Given the description of an element on the screen output the (x, y) to click on. 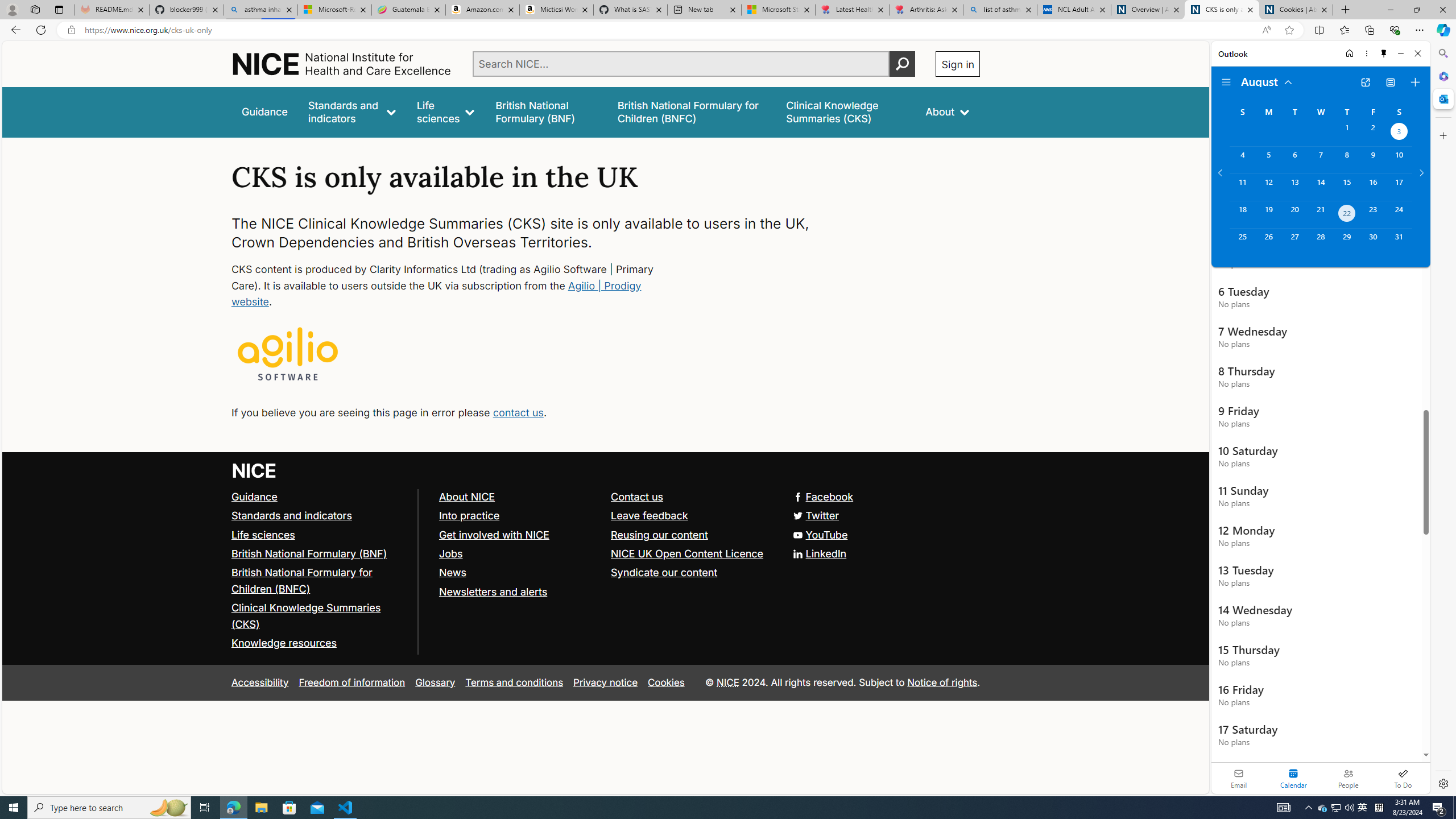
Friday, August 23, 2024.  (1372, 214)
Contact us (692, 496)
Thursday, August 8, 2024.  (1346, 159)
Accessibility (259, 682)
YouTube (605, 534)
Knowledge resources (283, 643)
Arthritis: Ask Health Professionals (925, 9)
Accessibility (259, 682)
Thursday, August 1, 2024.  (1346, 132)
To Do (1402, 777)
contact us (517, 412)
